Given the description of an element on the screen output the (x, y) to click on. 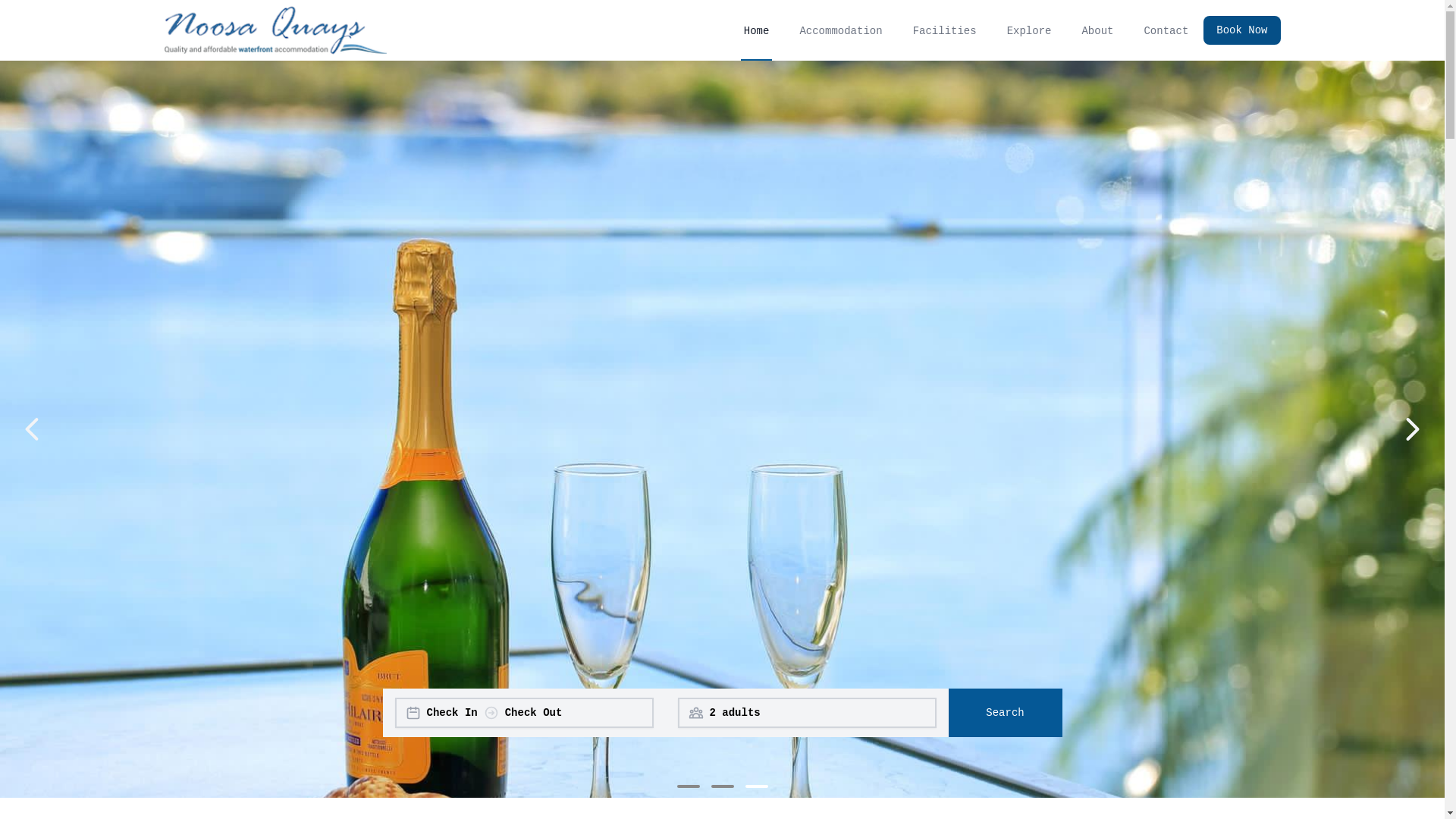
Book Now Element type: text (1241, 29)
Accommodation Element type: text (840, 30)
Home Element type: text (756, 30)
Explore Element type: text (1029, 30)
Book Now Element type: text (1235, 30)
Contact Element type: text (1165, 30)
Search Element type: text (1004, 712)
About Element type: text (1097, 30)
Facilities Element type: text (944, 30)
